Given the description of an element on the screen output the (x, y) to click on. 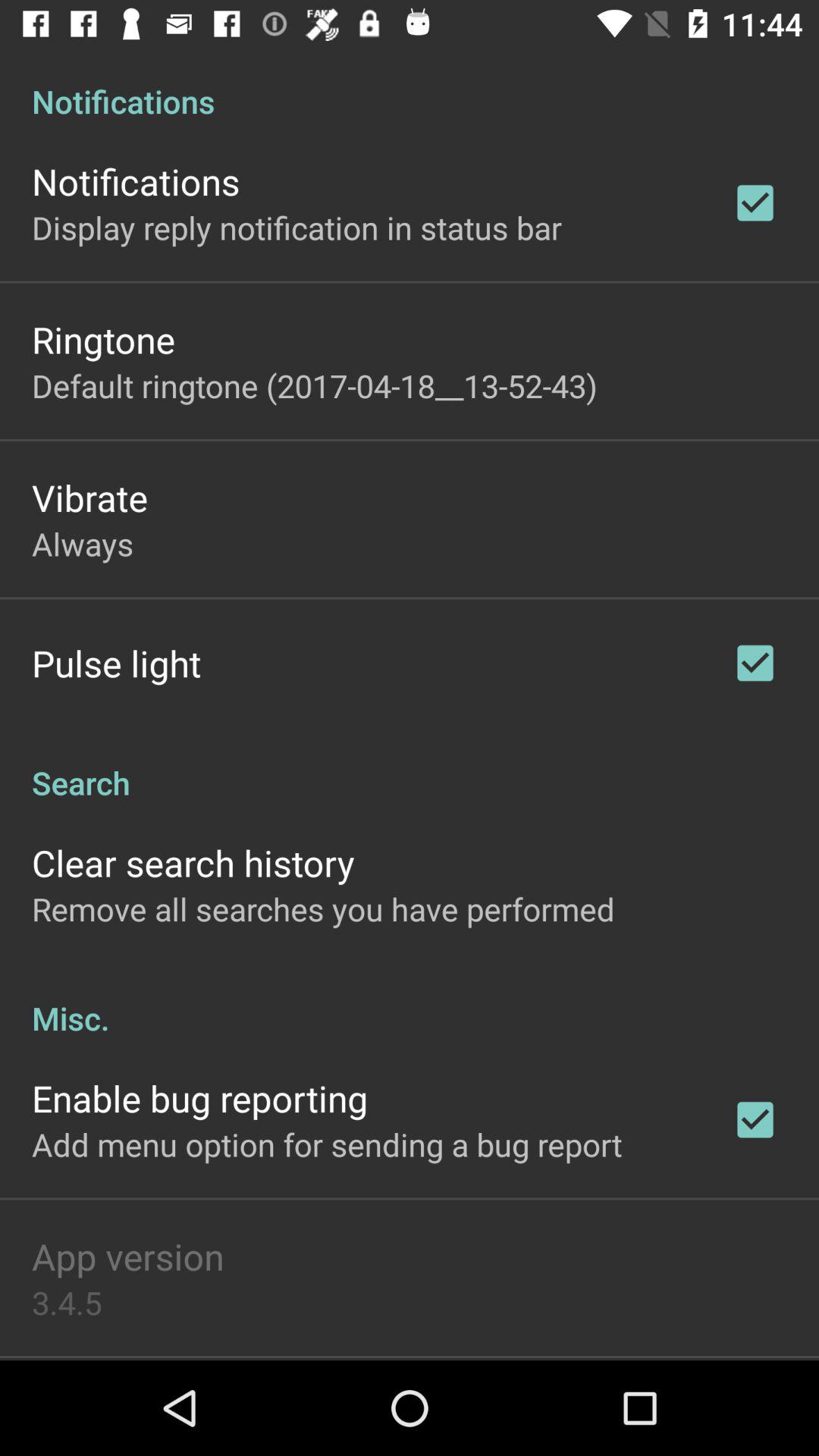
swipe until 3.4.5 icon (66, 1302)
